Given the description of an element on the screen output the (x, y) to click on. 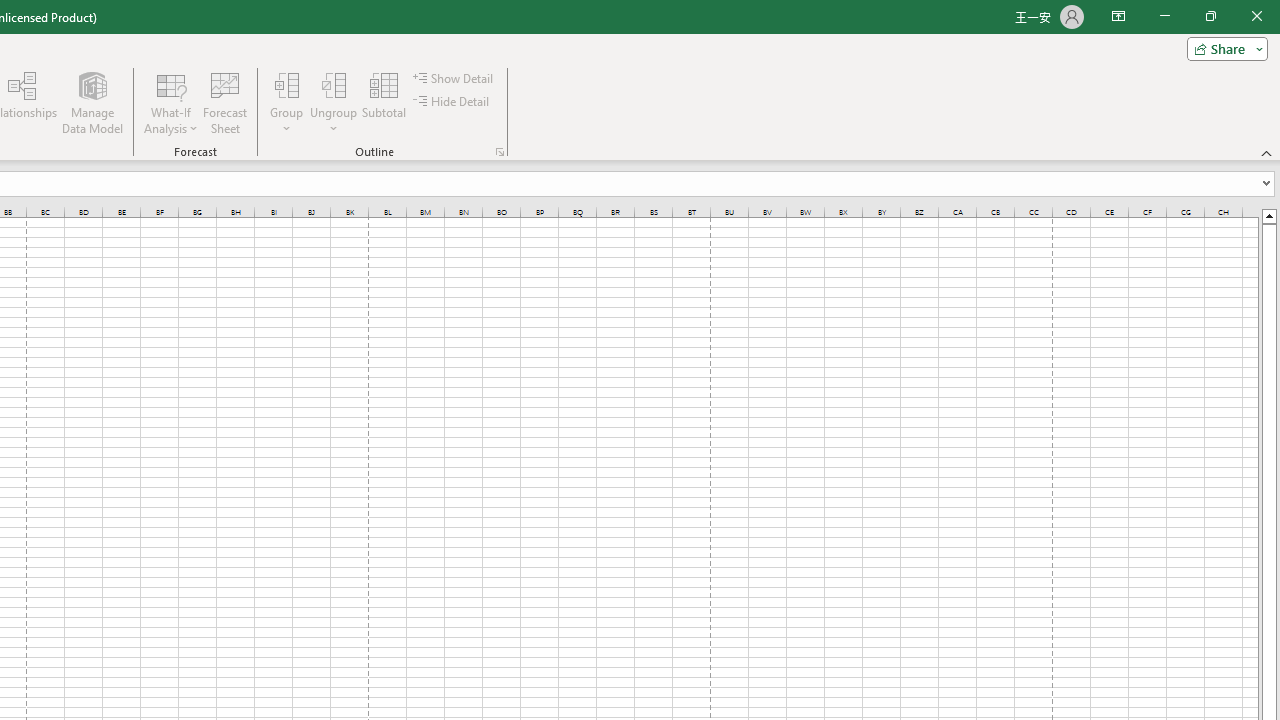
Share (1223, 48)
Forecast Sheet (224, 102)
Restore Down (1210, 16)
Collapse the Ribbon (1267, 152)
